Given the description of an element on the screen output the (x, y) to click on. 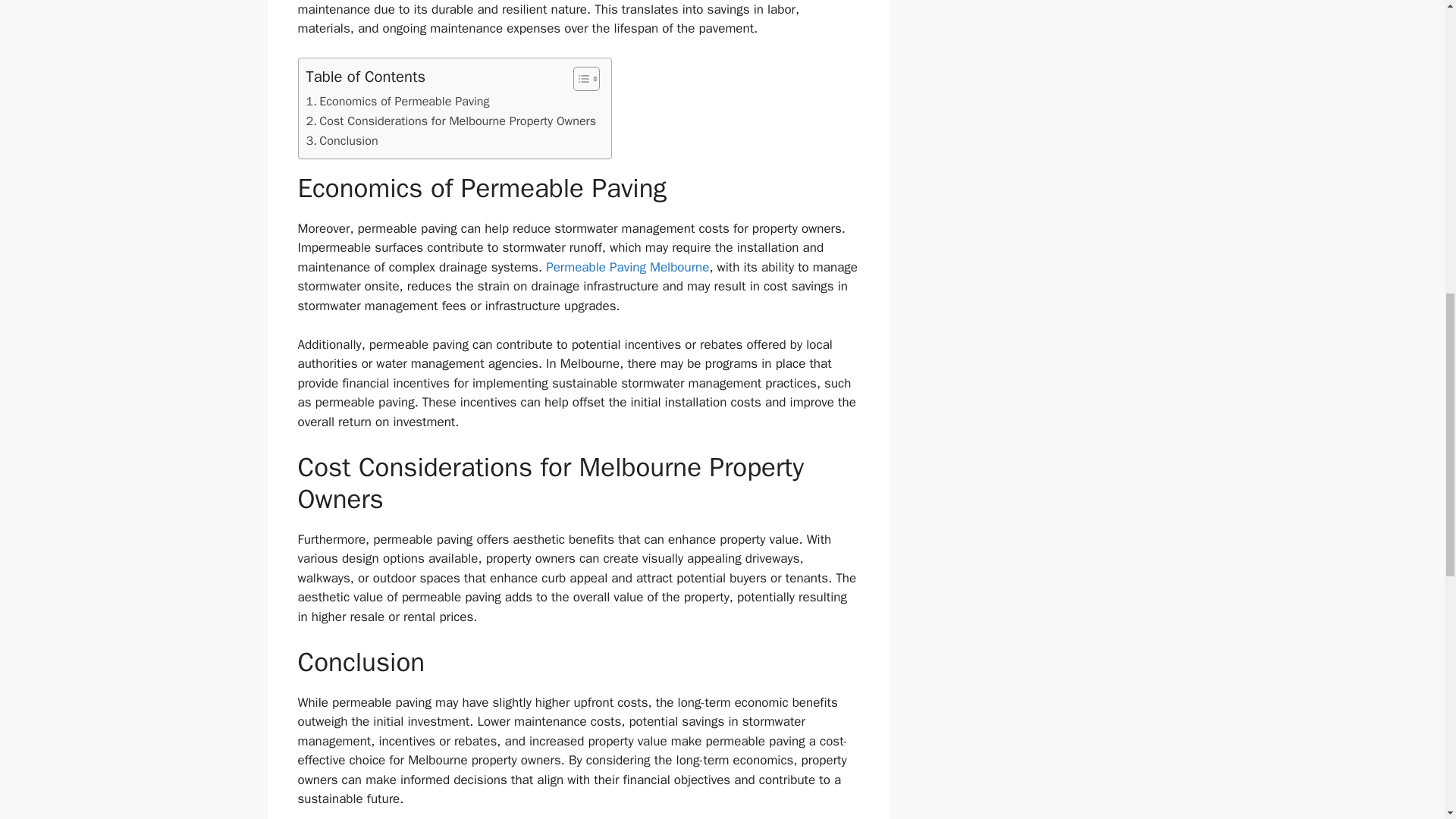
Cost Considerations for Melbourne Property Owners (450, 121)
Economics of Permeable Paving (397, 101)
Economics of Permeable Paving (397, 101)
Cost Considerations for Melbourne Property Owners (450, 121)
Conclusion (341, 140)
Permeable Paving Melbourne (627, 267)
Conclusion (341, 140)
